Given the description of an element on the screen output the (x, y) to click on. 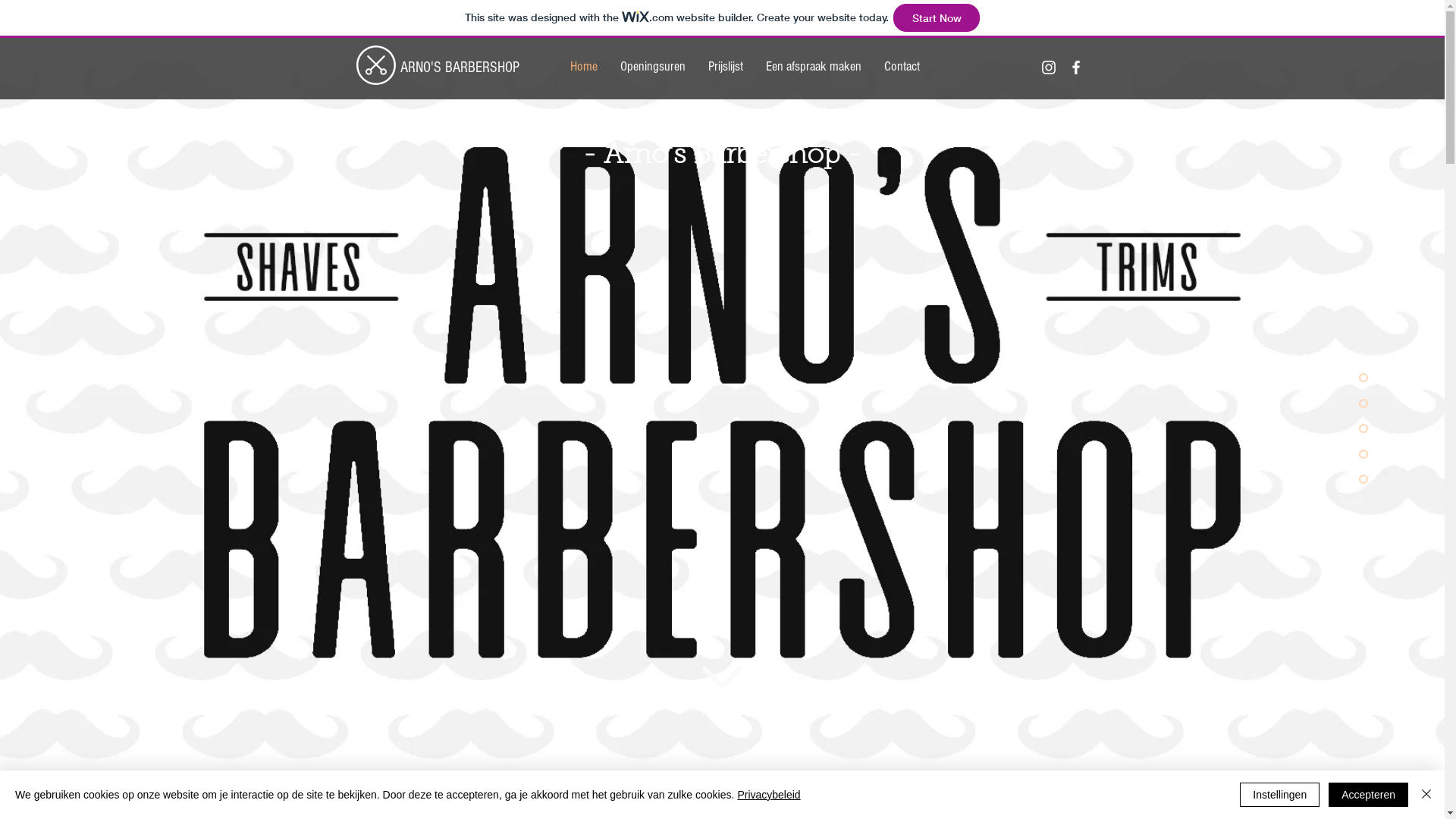
Privacybeleid Element type: text (768, 794)
Instellingen Element type: text (1279, 794)
Een afspraak maken Element type: text (812, 66)
ARNO'S BARBERSHOP Element type: text (459, 67)
Accepteren Element type: text (1368, 794)
Home Element type: text (583, 66)
Prijslijst Element type: text (724, 66)
Contact Element type: text (901, 66)
Openingsuren Element type: text (652, 66)
